Given the description of an element on the screen output the (x, y) to click on. 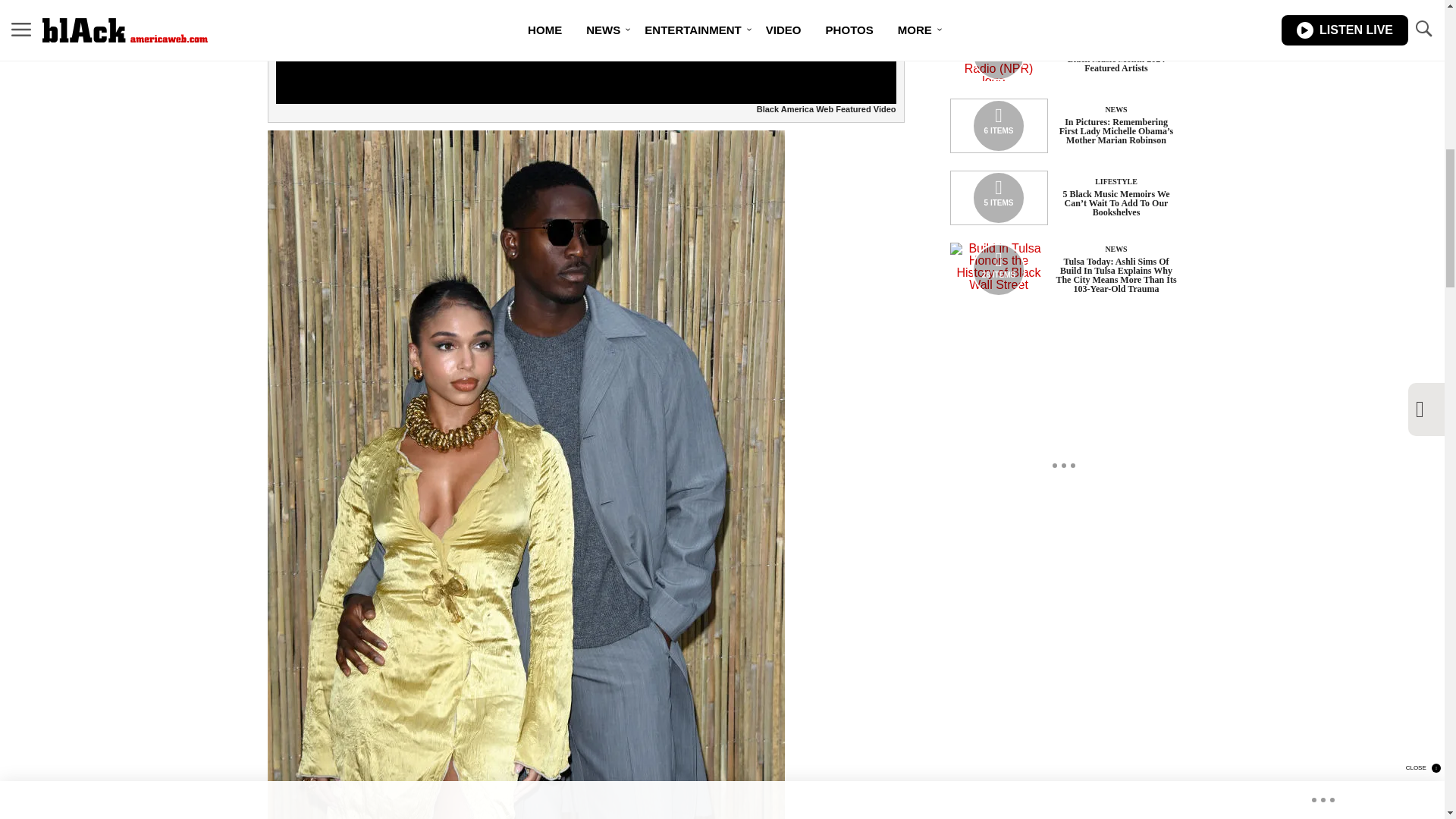
Media Playlist (998, 53)
3rd party ad content (1062, 465)
Media Playlist (998, 269)
Media Playlist (998, 197)
Media Playlist (998, 125)
